Given the description of an element on the screen output the (x, y) to click on. 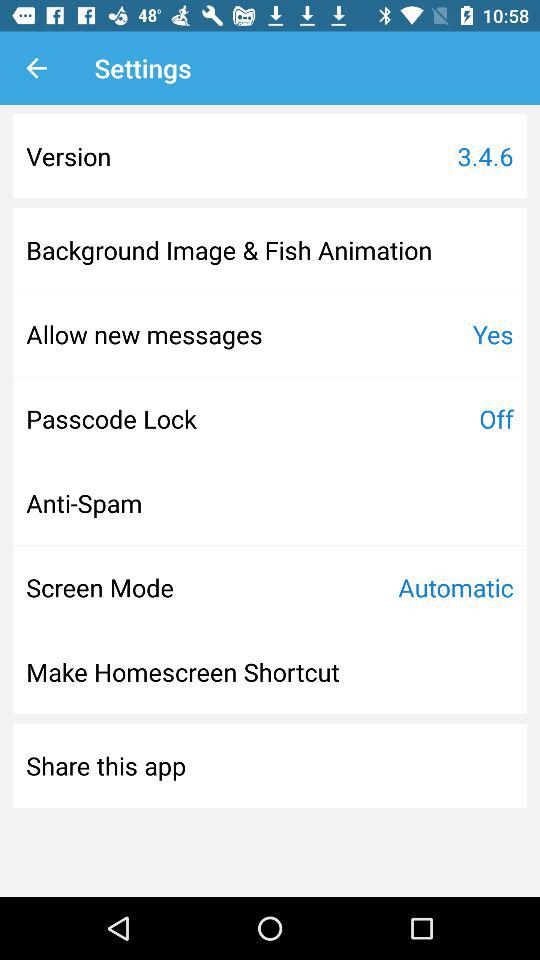
scroll to the background image fish item (229, 249)
